Given the description of an element on the screen output the (x, y) to click on. 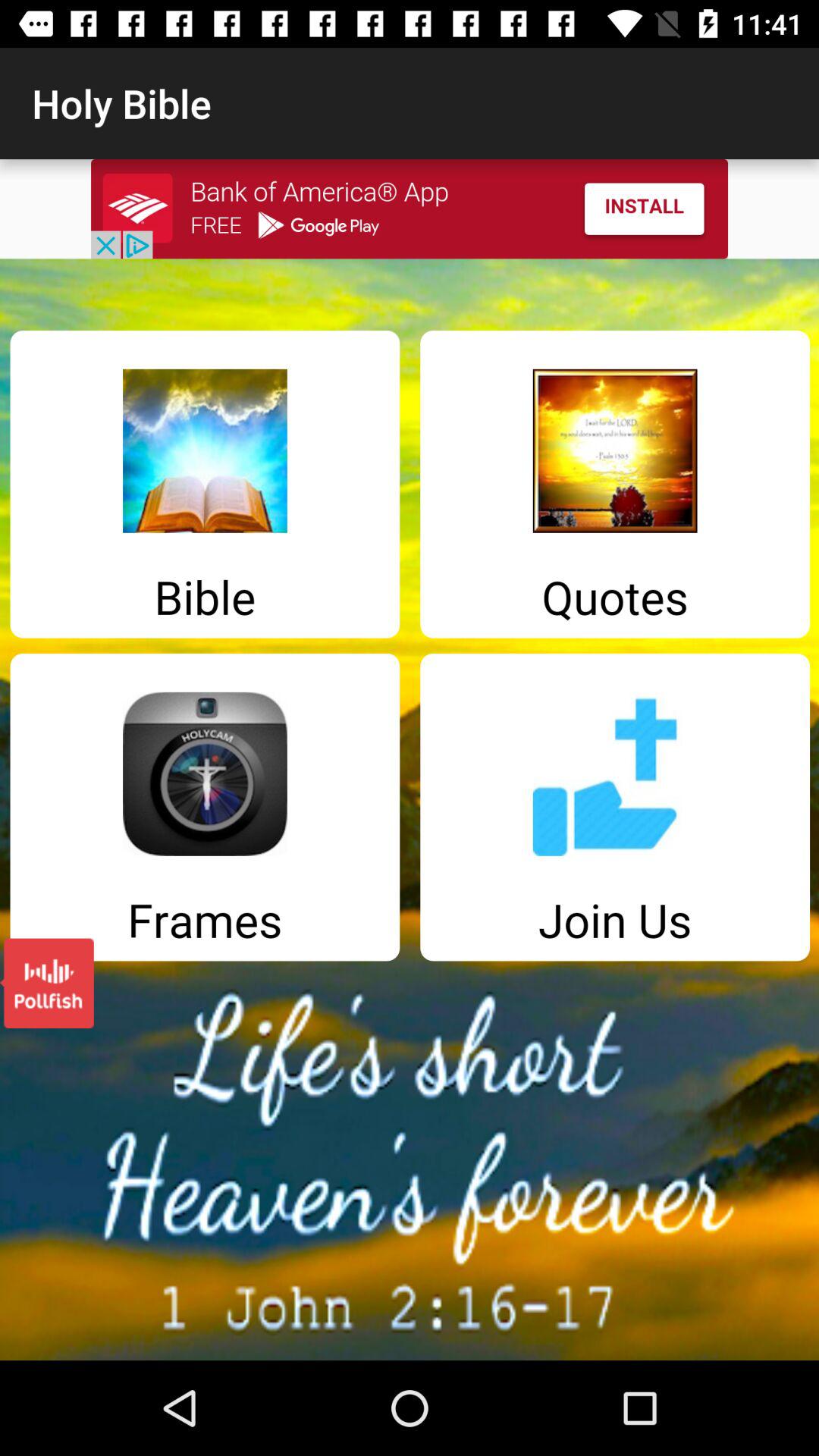
install advertised app (409, 208)
